Given the description of an element on the screen output the (x, y) to click on. 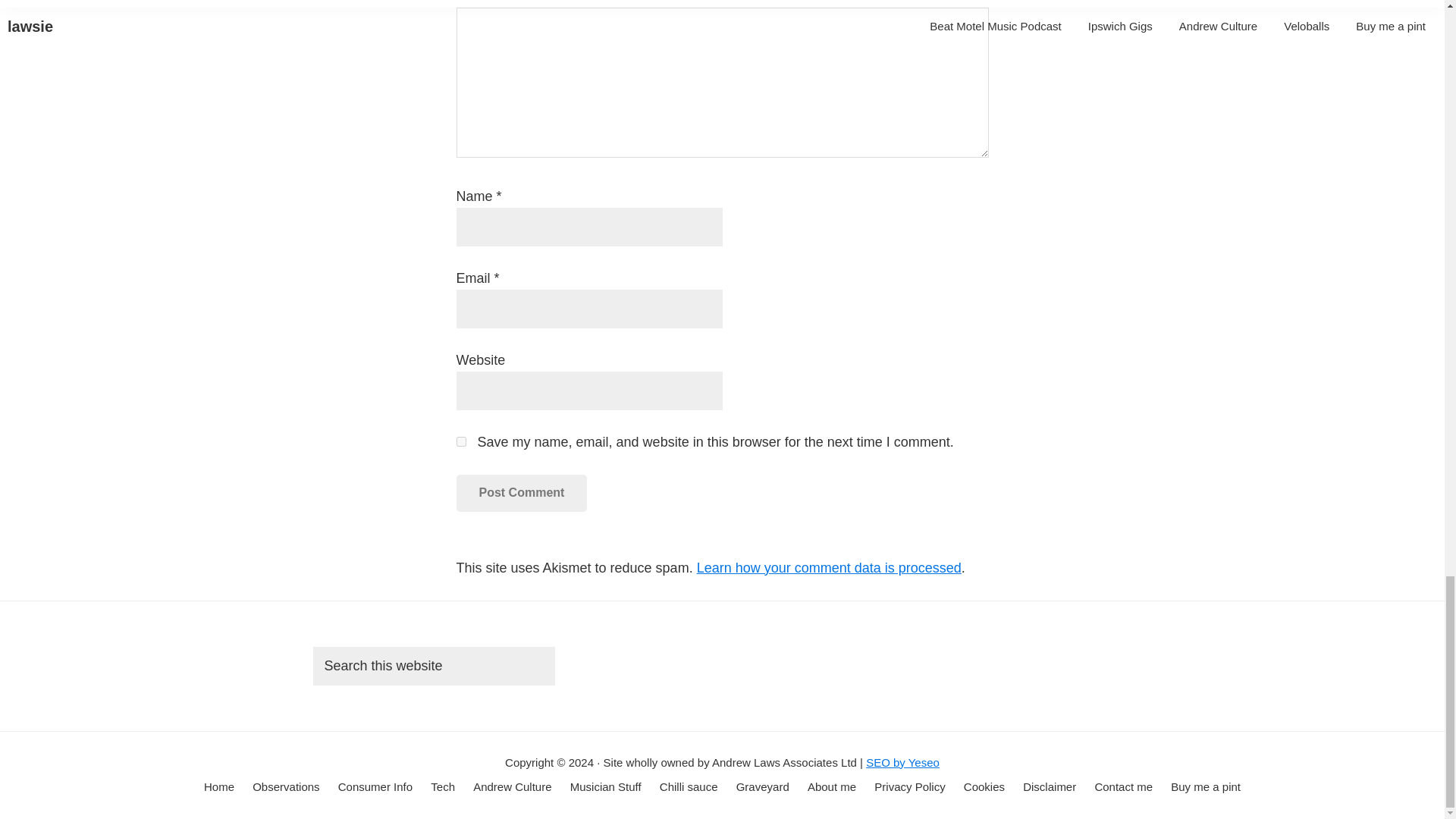
Learn how your comment data is processed (828, 567)
Buy me a pint (1205, 787)
Musician Stuff (606, 787)
Consumer Info (374, 787)
yes (461, 441)
Contact me (1123, 787)
Andrew Culture (512, 787)
Cookies (983, 787)
Tech (442, 787)
Observations (284, 787)
About me (832, 787)
Chilli sauce (688, 787)
